Given the description of an element on the screen output the (x, y) to click on. 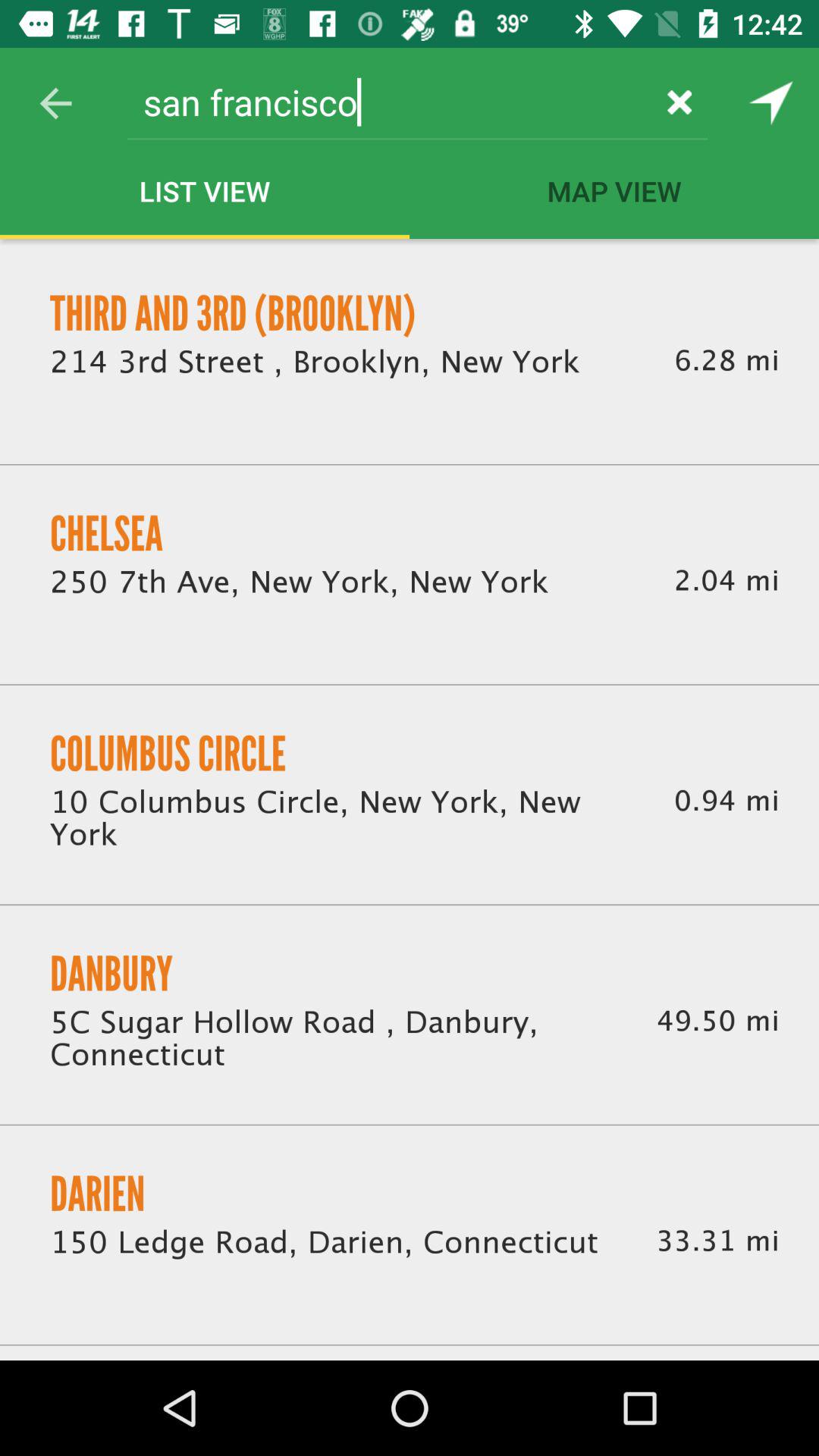
launch icon to the left of the 2.04 mi item (299, 582)
